Given the description of an element on the screen output the (x, y) to click on. 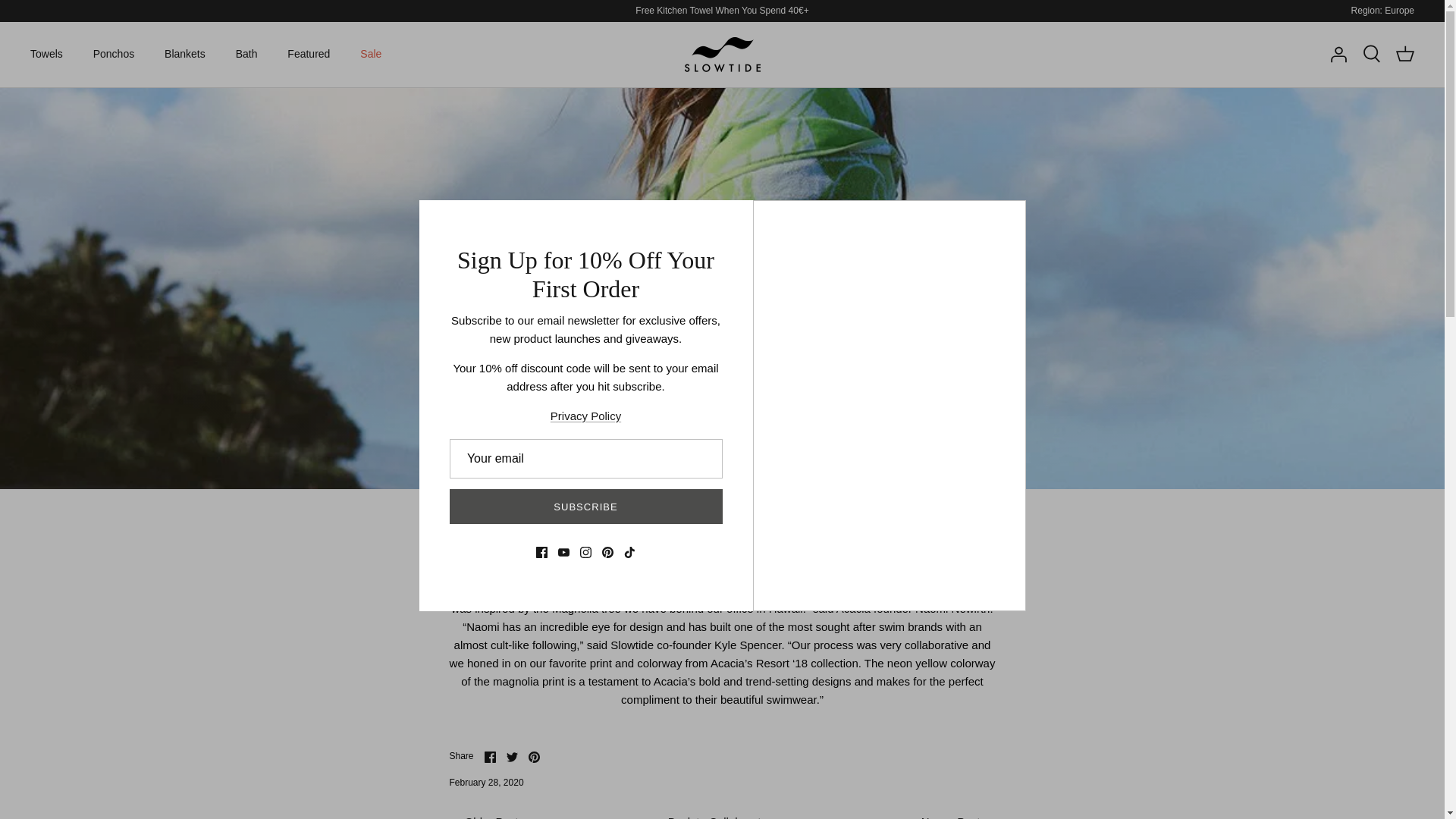
Bath (246, 53)
Privacy Policy (585, 415)
Twitter (512, 756)
Facebook (490, 756)
Pinterest (534, 756)
Slowtide Europe (722, 54)
Region: Europe (1382, 9)
Blankets (185, 53)
Featured (308, 53)
Towels (46, 53)
Ponchos (114, 53)
Sale (370, 53)
